Given the description of an element on the screen output the (x, y) to click on. 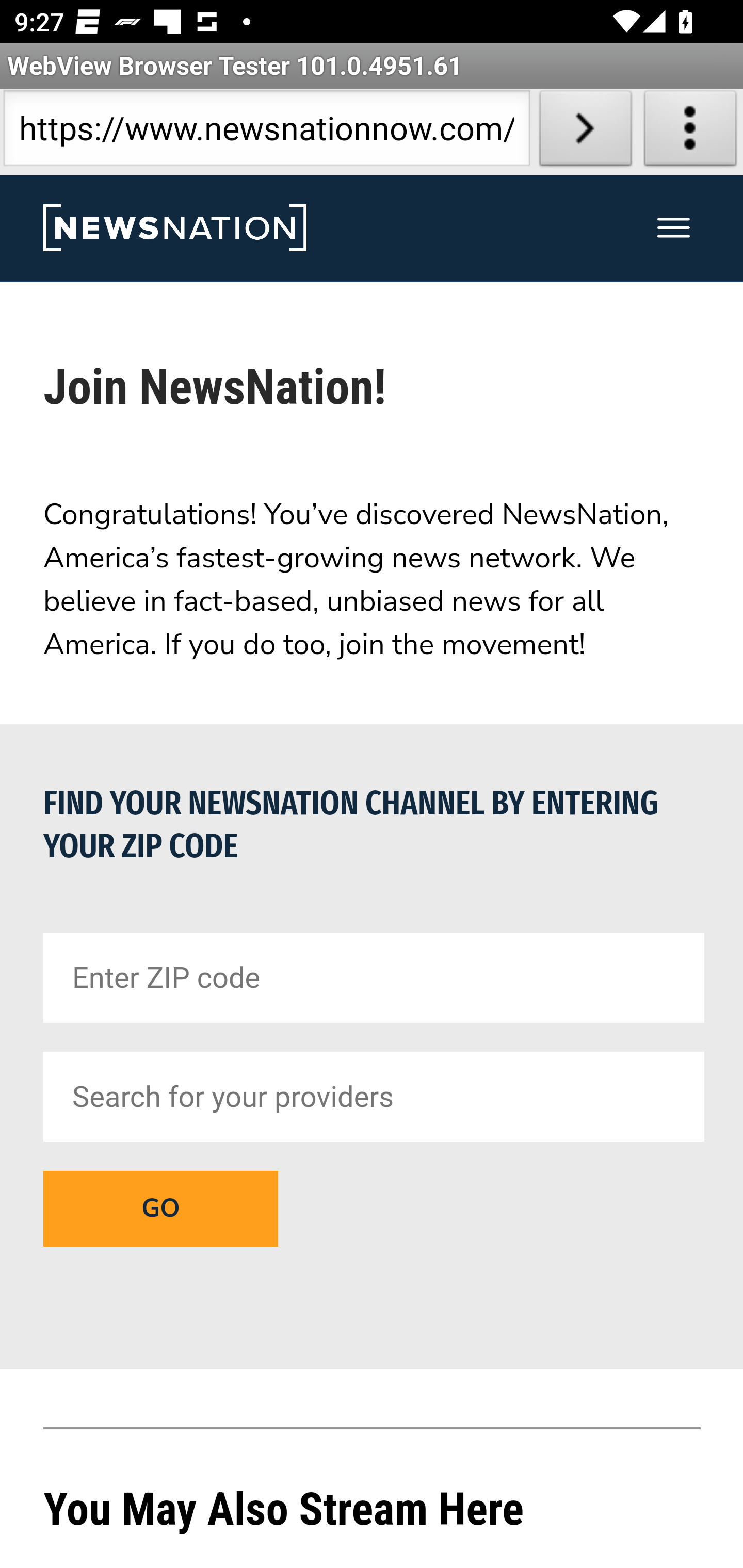
https://www.newsnationnow.com/channel-finder/ (266, 132)
Load URL (585, 132)
About WebView (690, 132)
www.newsnationnow (174, 227)
Toggle Menu (674, 227)
Go (160, 1208)
